Given the description of an element on the screen output the (x, y) to click on. 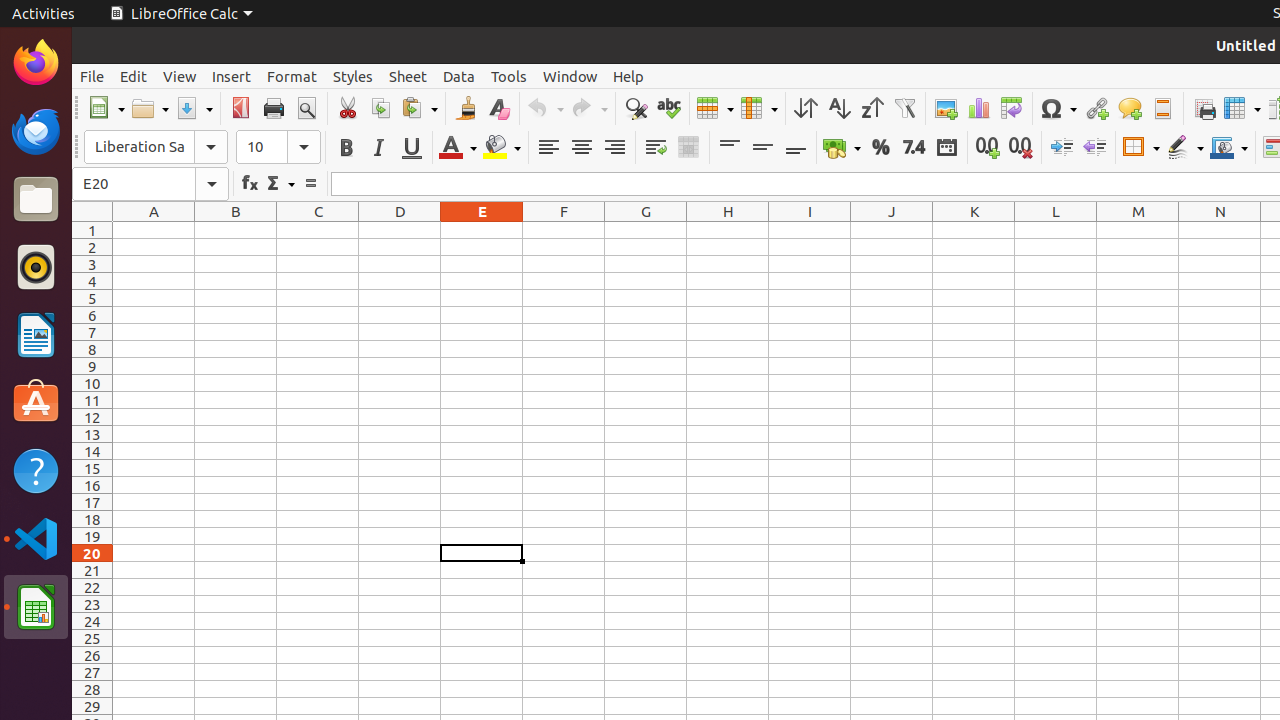
F1 Element type: table-cell (564, 230)
File Element type: menu (92, 76)
Underline Element type: push-button (411, 147)
View Element type: menu (179, 76)
Font Color Element type: push-button (458, 147)
